Given the description of an element on the screen output the (x, y) to click on. 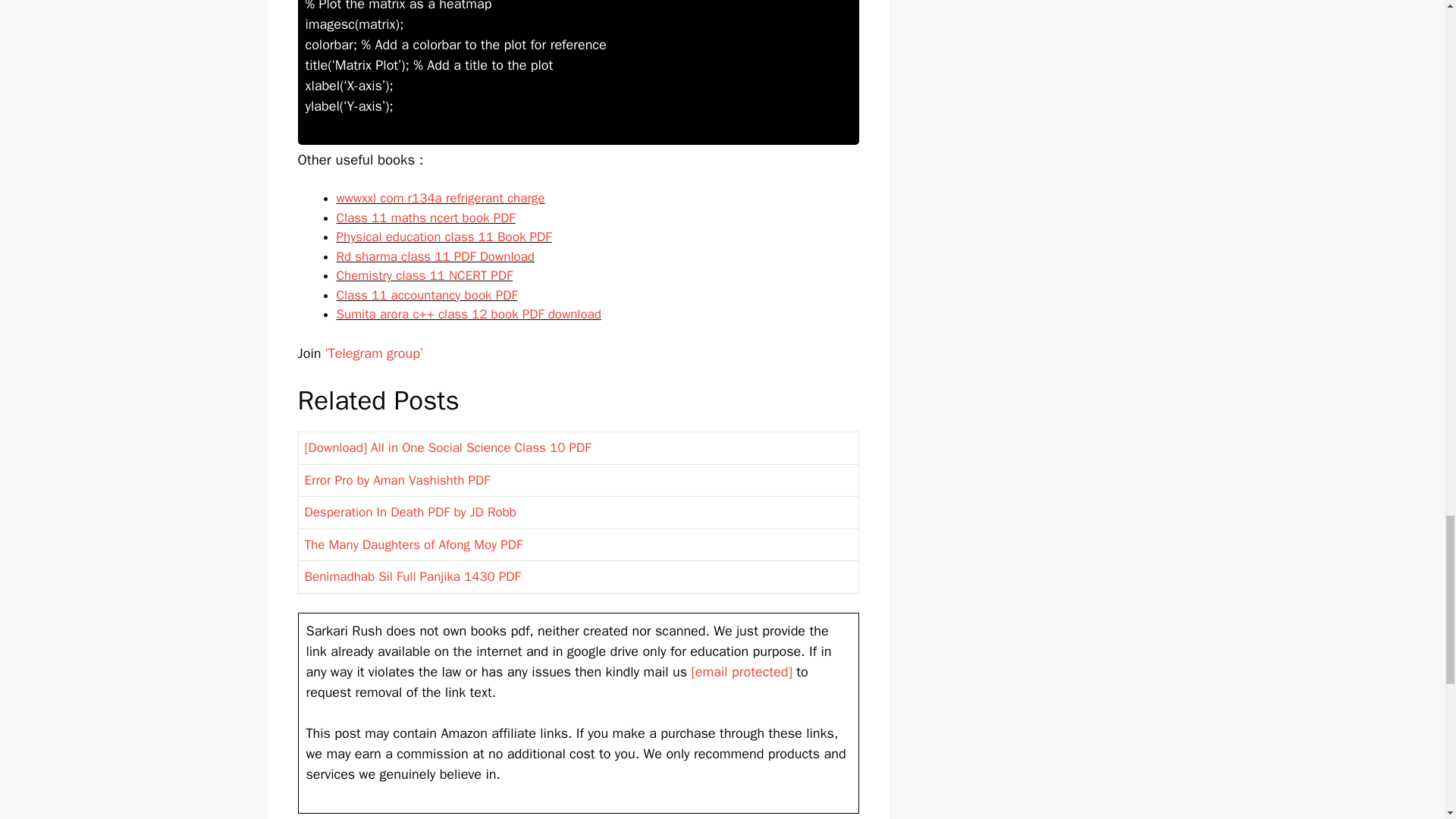
wwwxxl com r134a refrigerant charge (440, 198)
Desperation In Death PDF by JD Robb (410, 512)
Rd sharma class 11 PDF Download (435, 256)
Class 11 maths ncert book PDF (425, 217)
Benimadhab Sil Full Panjika 1430 PDF (412, 576)
The Many Daughters of Afong Moy PDF (413, 544)
Physical education class 11 Book PDF (443, 236)
Error Pro by Aman Vashishth PDF (397, 480)
Class 11 accountancy book PDF (427, 295)
Chemistry class 11 NCERT PDF (424, 275)
